Given the description of an element on the screen output the (x, y) to click on. 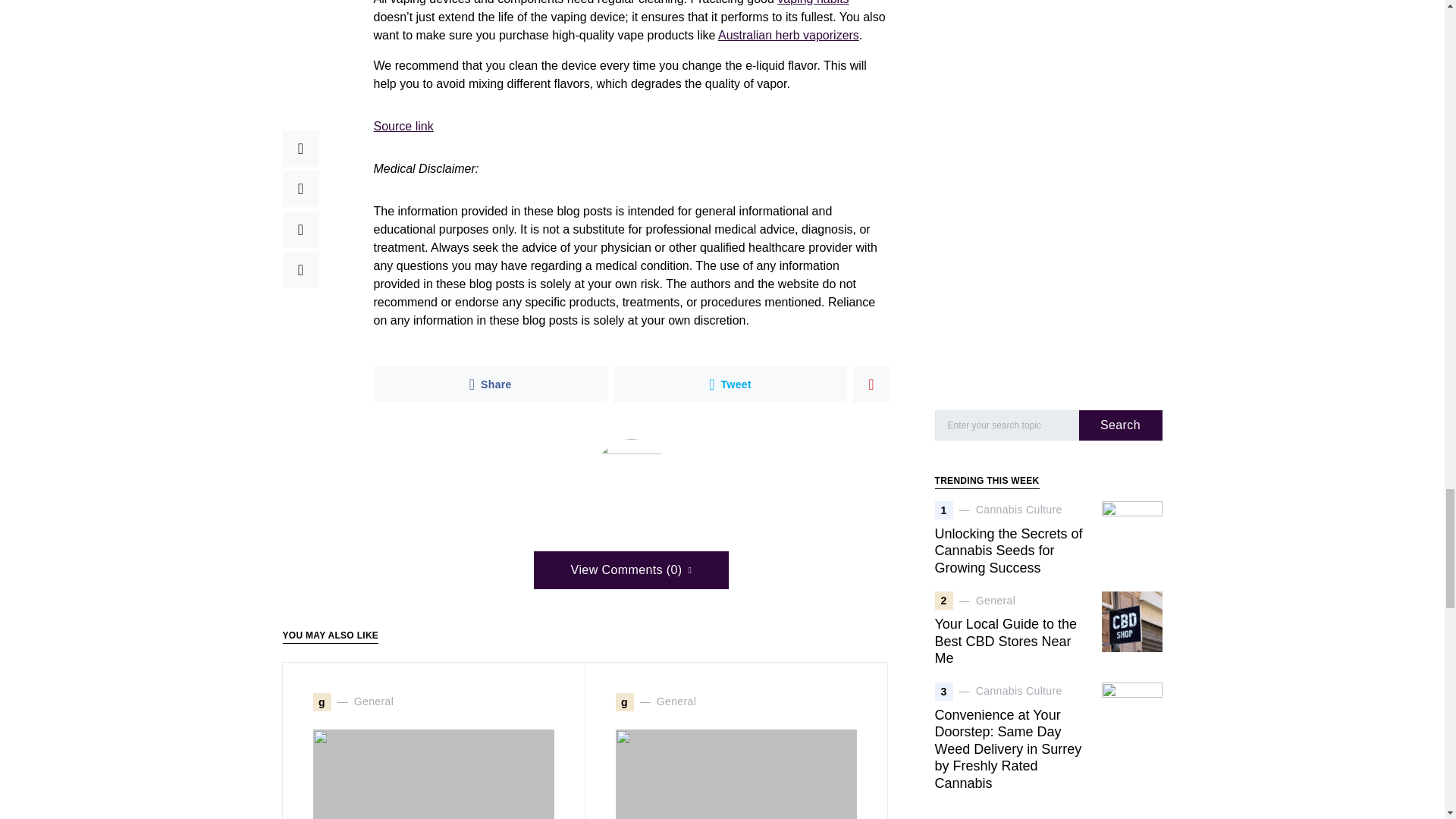
vaping habits (812, 2)
Australian herb vaporizers (788, 34)
Source link (402, 125)
